Given the description of an element on the screen output the (x, y) to click on. 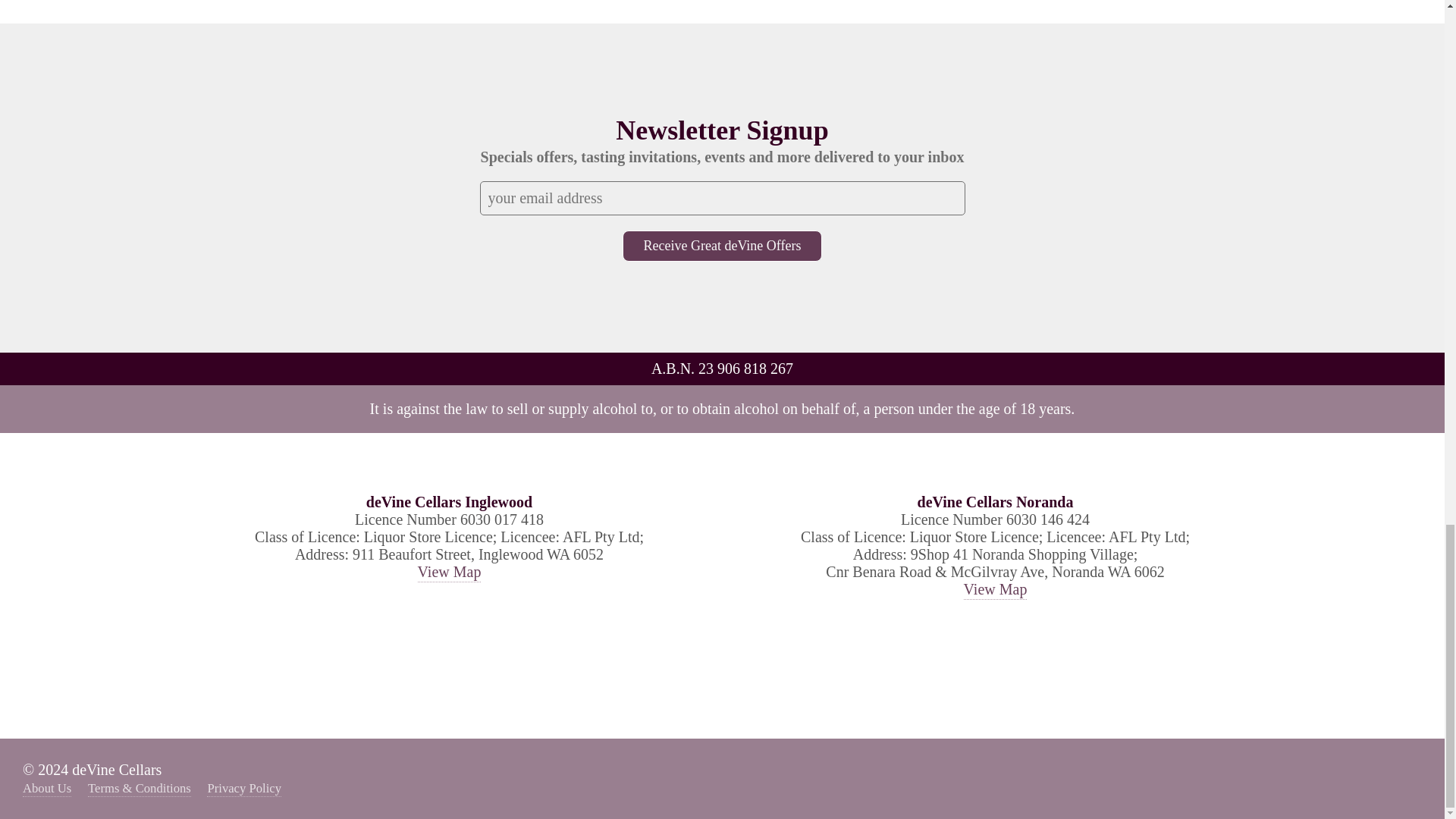
Receive Great deVine Offers (721, 245)
